Given the description of an element on the screen output the (x, y) to click on. 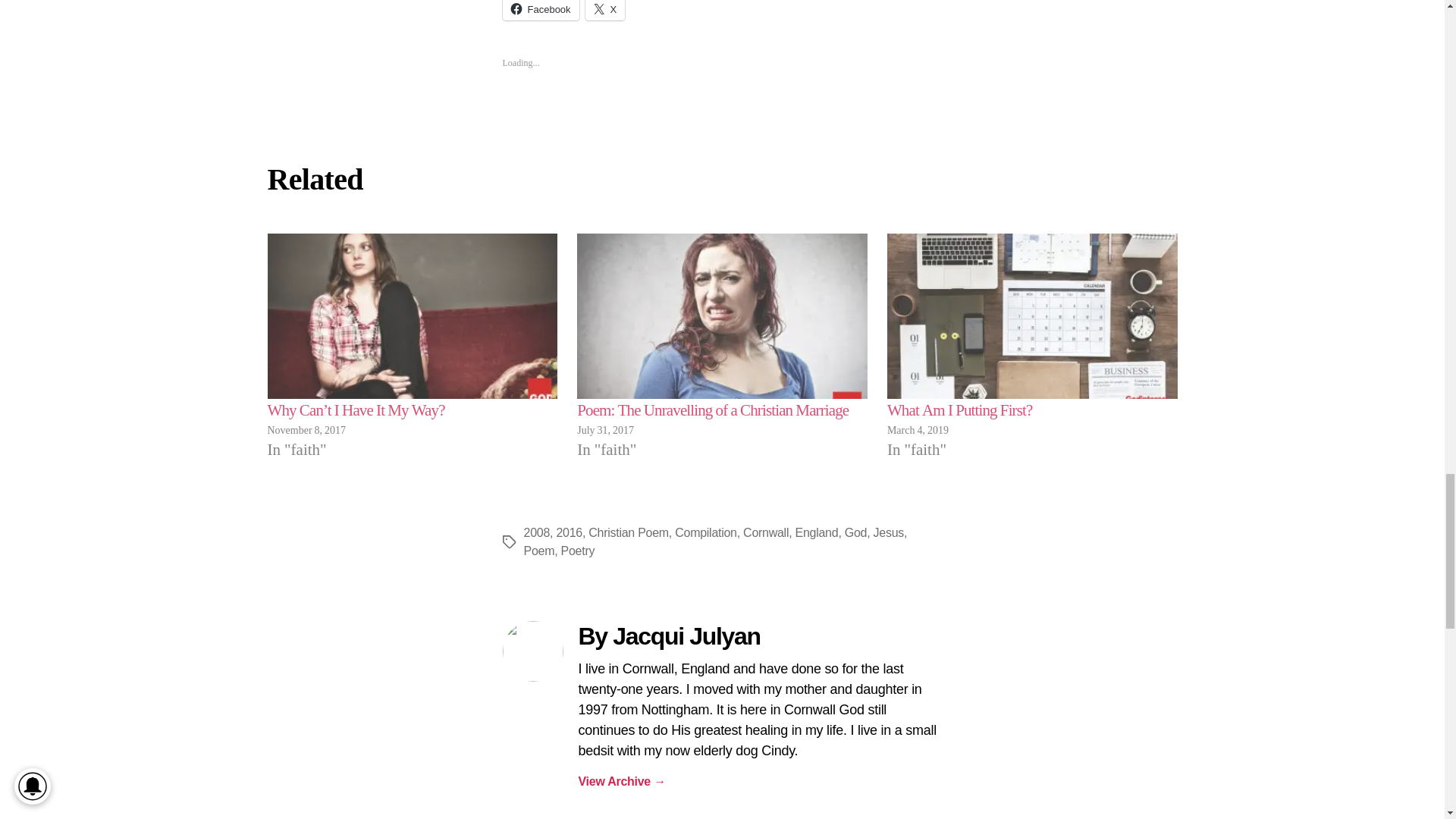
X (605, 10)
2016 (569, 532)
England (816, 532)
2008 (536, 532)
Christian Poem (628, 532)
Click to share on X (605, 10)
Click to share on Facebook (540, 10)
Cornwall (765, 532)
Facebook (540, 10)
What Am I Putting First? (959, 410)
Poem: The Unravelling of a Christian Marriage (712, 410)
What Am I Putting First? (1031, 316)
Poem: The Unravelling of a Christian Marriage (712, 410)
Poem: The Unravelling of a Christian Marriage (721, 316)
What Am I Putting First? (959, 410)
